Given the description of an element on the screen output the (x, y) to click on. 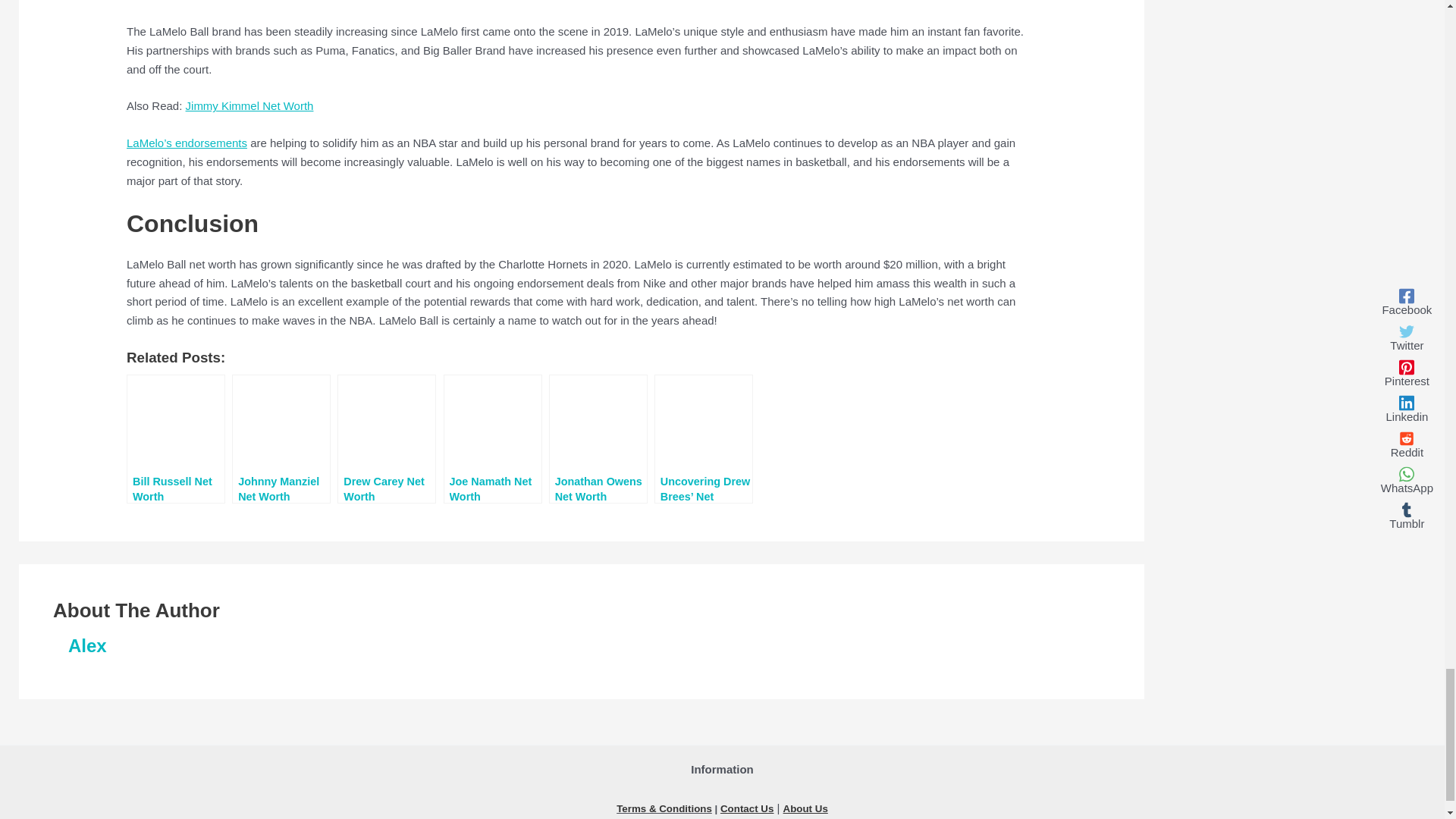
joe namath net worth 11 (493, 424)
uncovering drew brees' net worth: a comprehensive look 12 (704, 424)
